Given the description of an element on the screen output the (x, y) to click on. 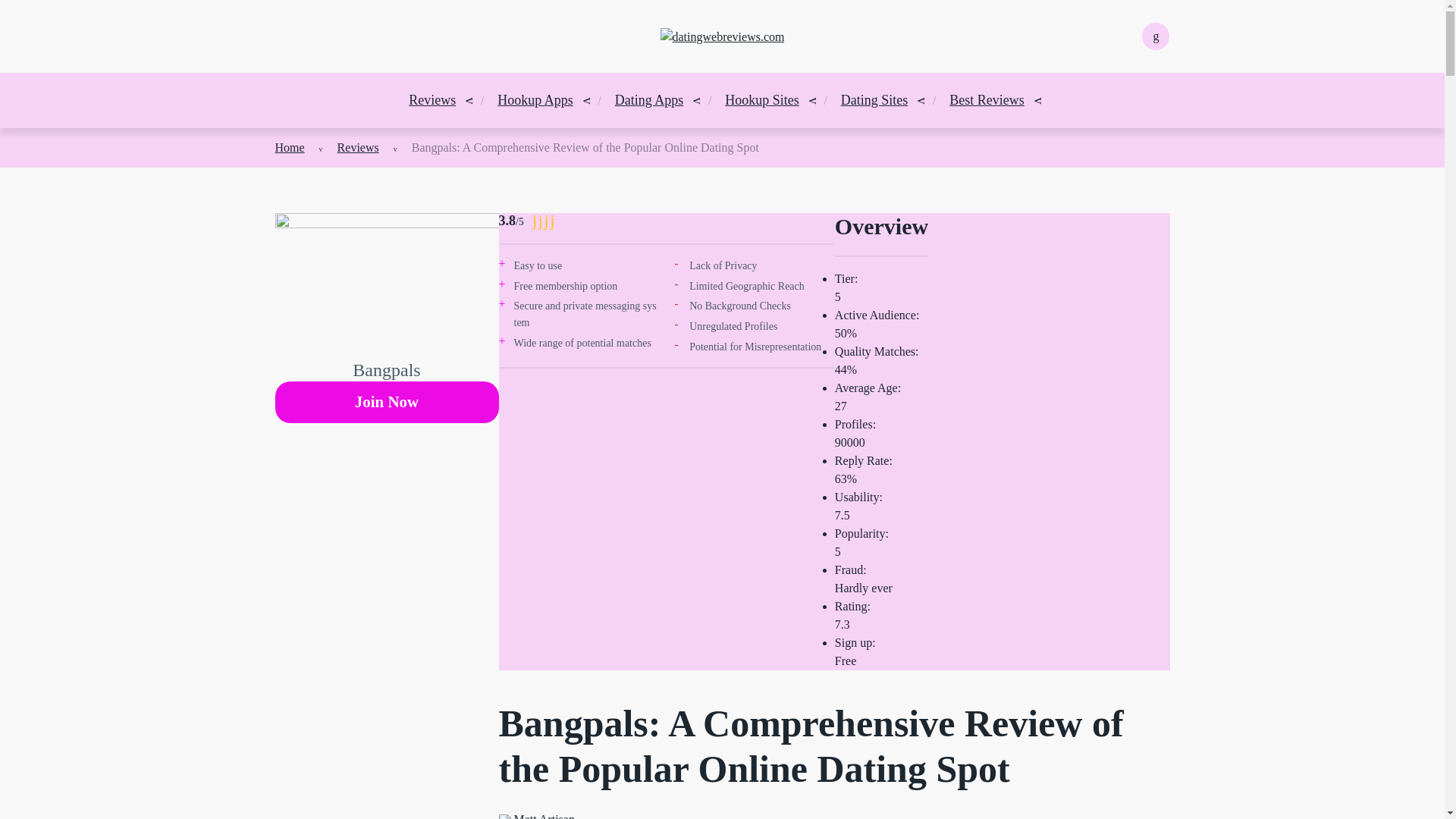
Reviews (357, 146)
Home (289, 146)
Reviews (432, 100)
